Given the description of an element on the screen output the (x, y) to click on. 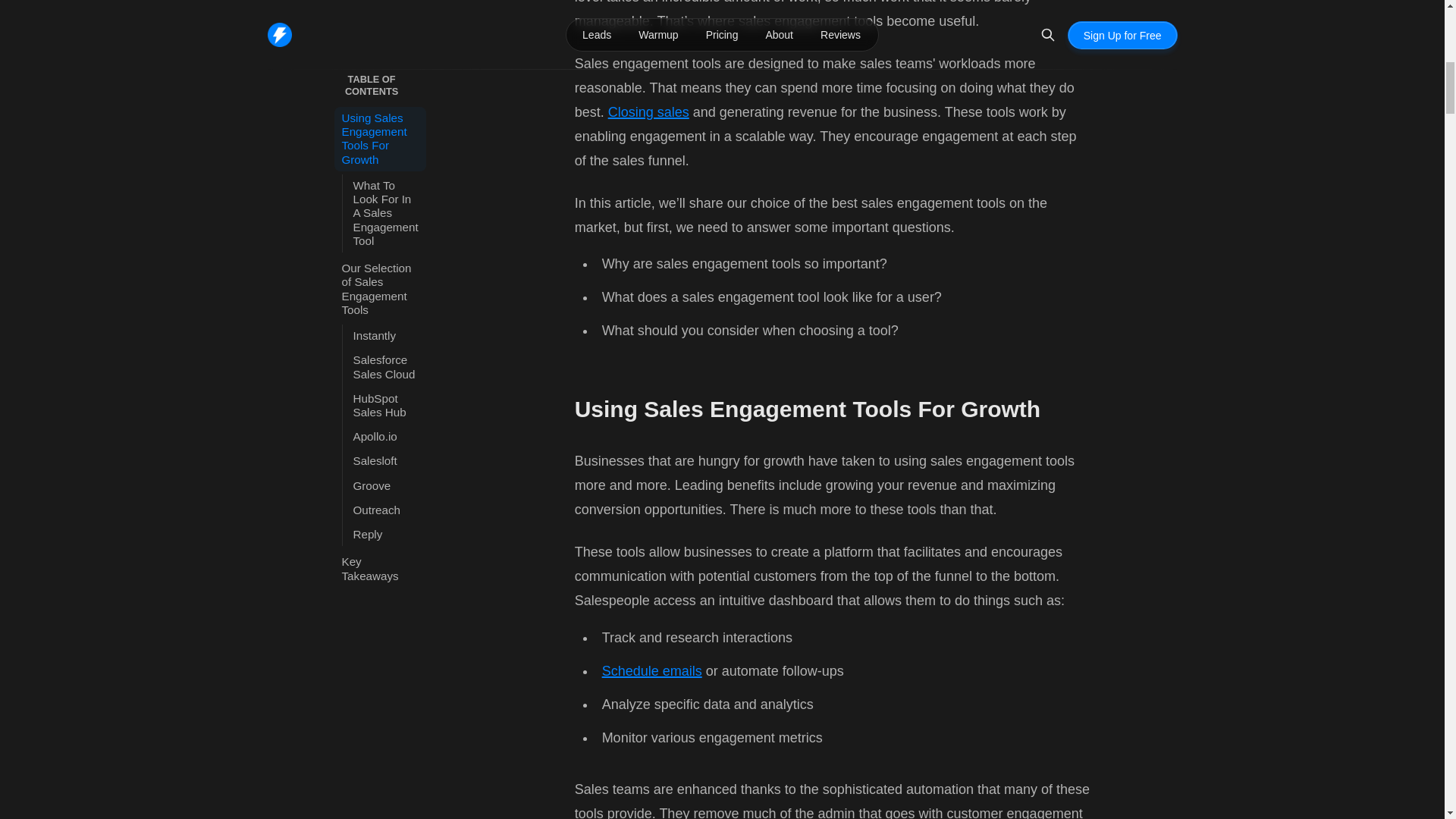
Reply (386, 376)
Our Selection of Sales Engagement Tools (379, 131)
Salesforce Sales Cloud (386, 208)
Instantly (386, 178)
Apollo.io (386, 278)
Outreach (386, 352)
Groove (386, 327)
HubSpot Sales Hub (386, 248)
What To Look For In A Sales Engagement Tool (386, 55)
Using Sales Engagement Tools For Growth (379, 6)
Salesloft (386, 302)
Closing sales (648, 111)
Key Takeaways (379, 411)
Schedule emails (651, 670)
